Given the description of an element on the screen output the (x, y) to click on. 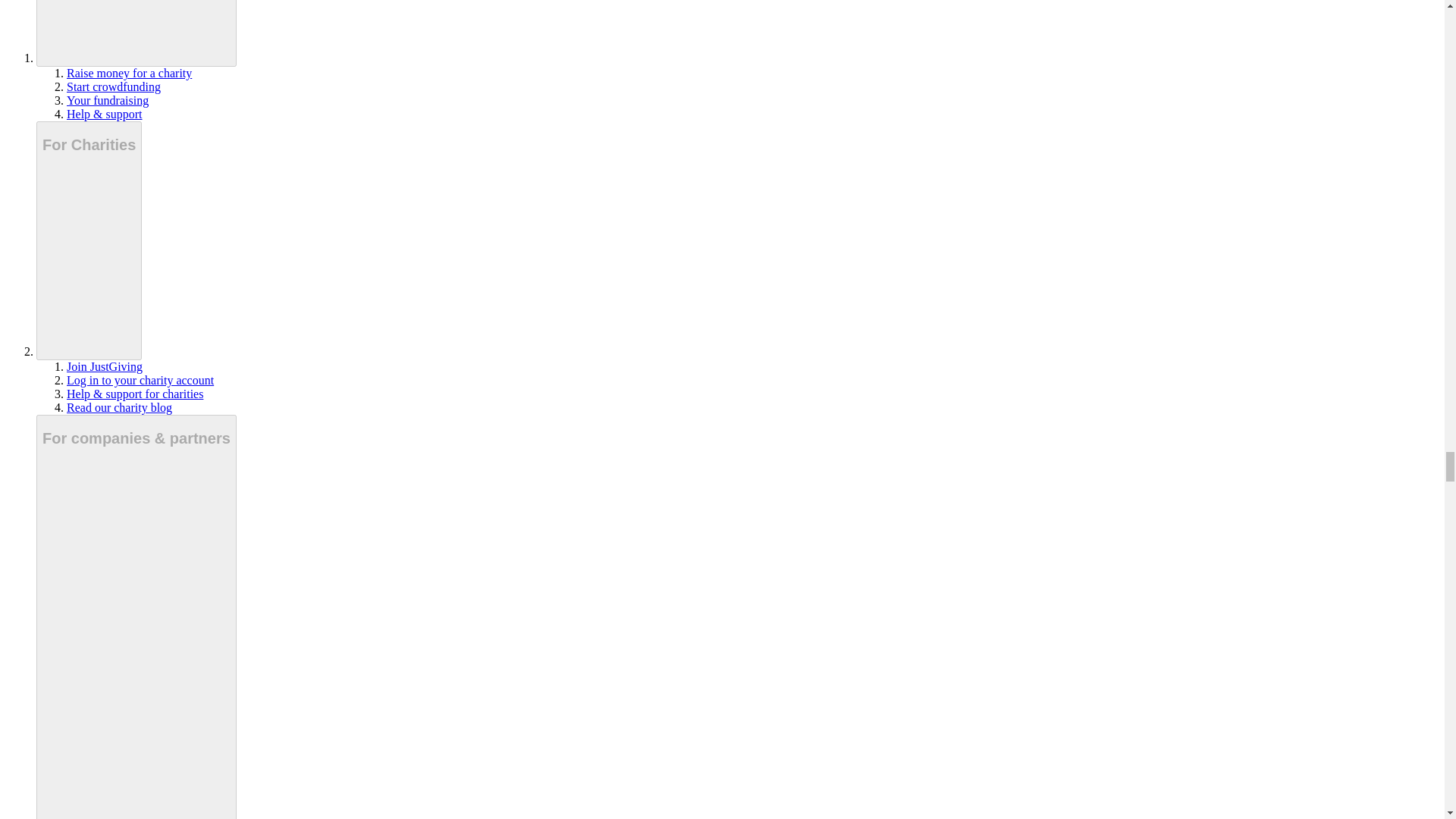
Join JustGiving (104, 366)
Raise money for a charity (129, 72)
Your fundraising (107, 100)
Start crowdfunding (113, 86)
